Given the description of an element on the screen output the (x, y) to click on. 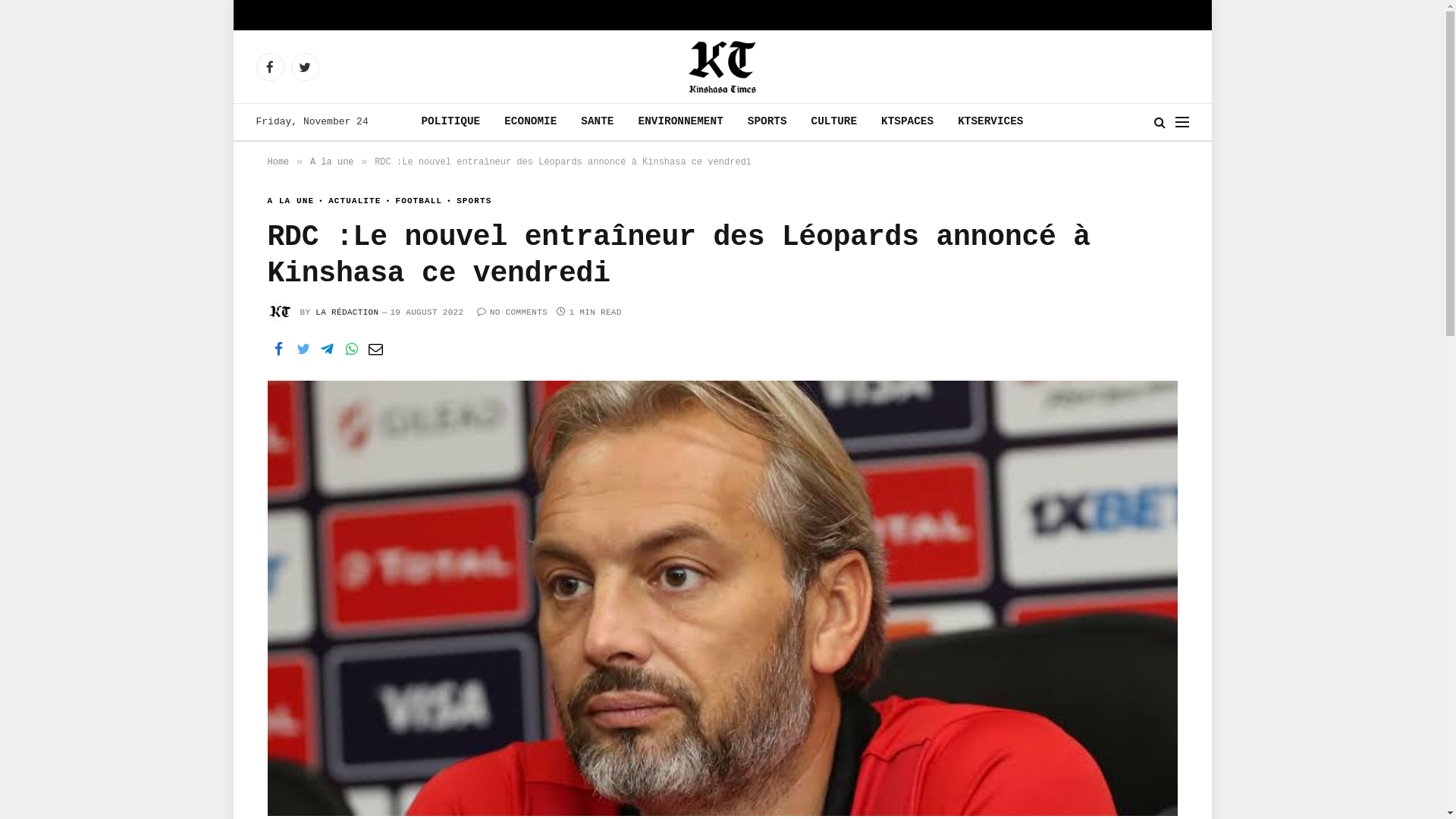
CULTURE Element type: text (834, 121)
KTSPACES Element type: text (907, 121)
Share on Twitter Element type: hover (302, 349)
SANTE Element type: text (596, 121)
Share on WhatsApp Element type: hover (350, 349)
Share on Facebook Element type: hover (277, 349)
A la une Element type: text (332, 161)
KTSERVICES Element type: text (990, 121)
ECONOMIE Element type: text (530, 121)
Twitter Element type: text (305, 67)
POLITIQUE Element type: text (450, 121)
Facebook Element type: text (270, 67)
Home Element type: text (277, 161)
ACTUALITE Element type: text (346, 200)
NO COMMENTS Element type: text (511, 311)
SPORTS Element type: text (767, 121)
A LA UNE Element type: text (289, 200)
Share via Email Element type: hover (375, 349)
FOOTBALL Element type: text (411, 200)
Search Element type: hover (1159, 121)
SPORTS Element type: text (466, 200)
Share on Telegram Element type: hover (326, 349)
ENVIRONNEMENT Element type: text (680, 121)
